Given the description of an element on the screen output the (x, y) to click on. 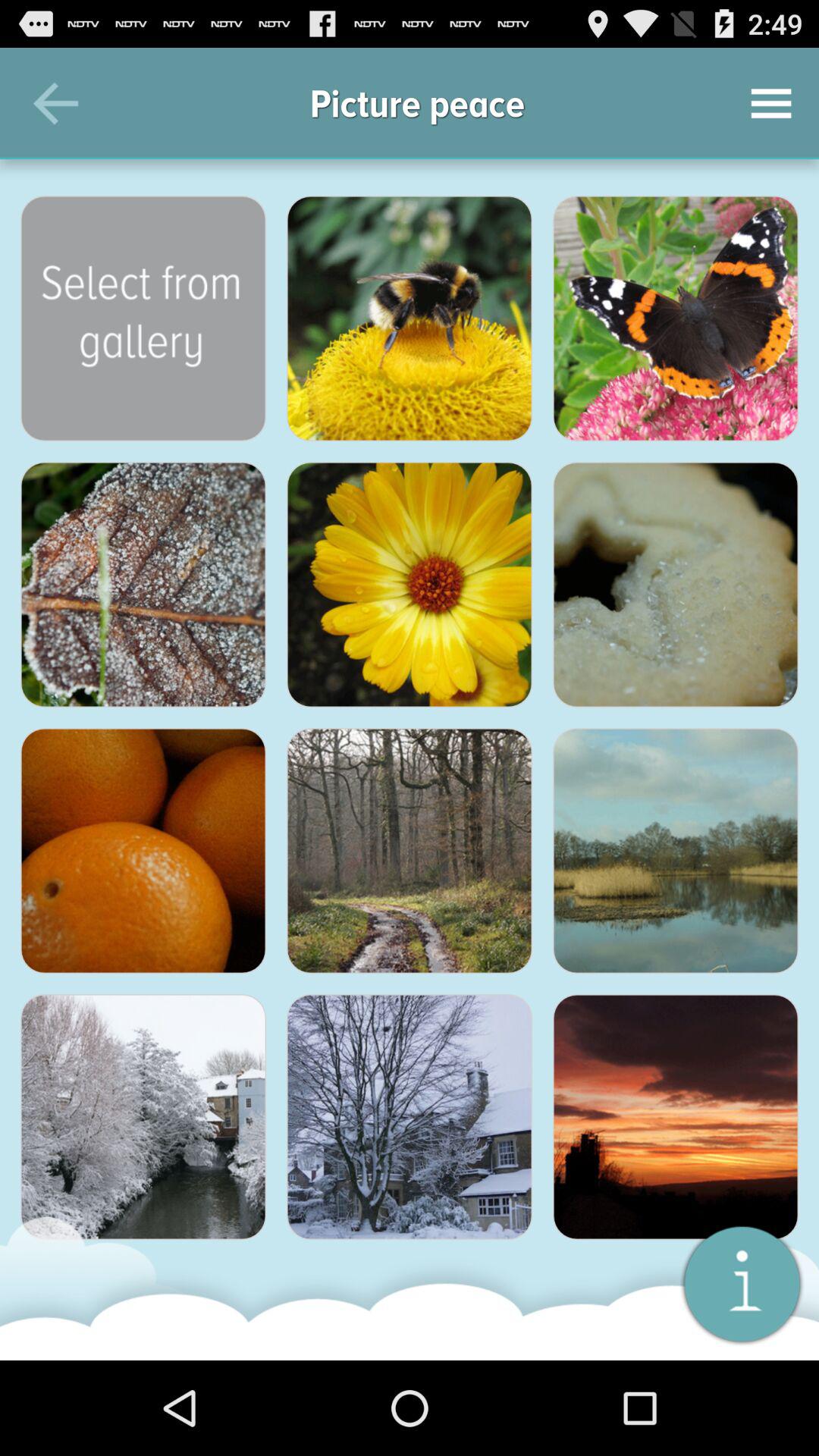
launch icon to the left of the picture peace (55, 103)
